Given the description of an element on the screen output the (x, y) to click on. 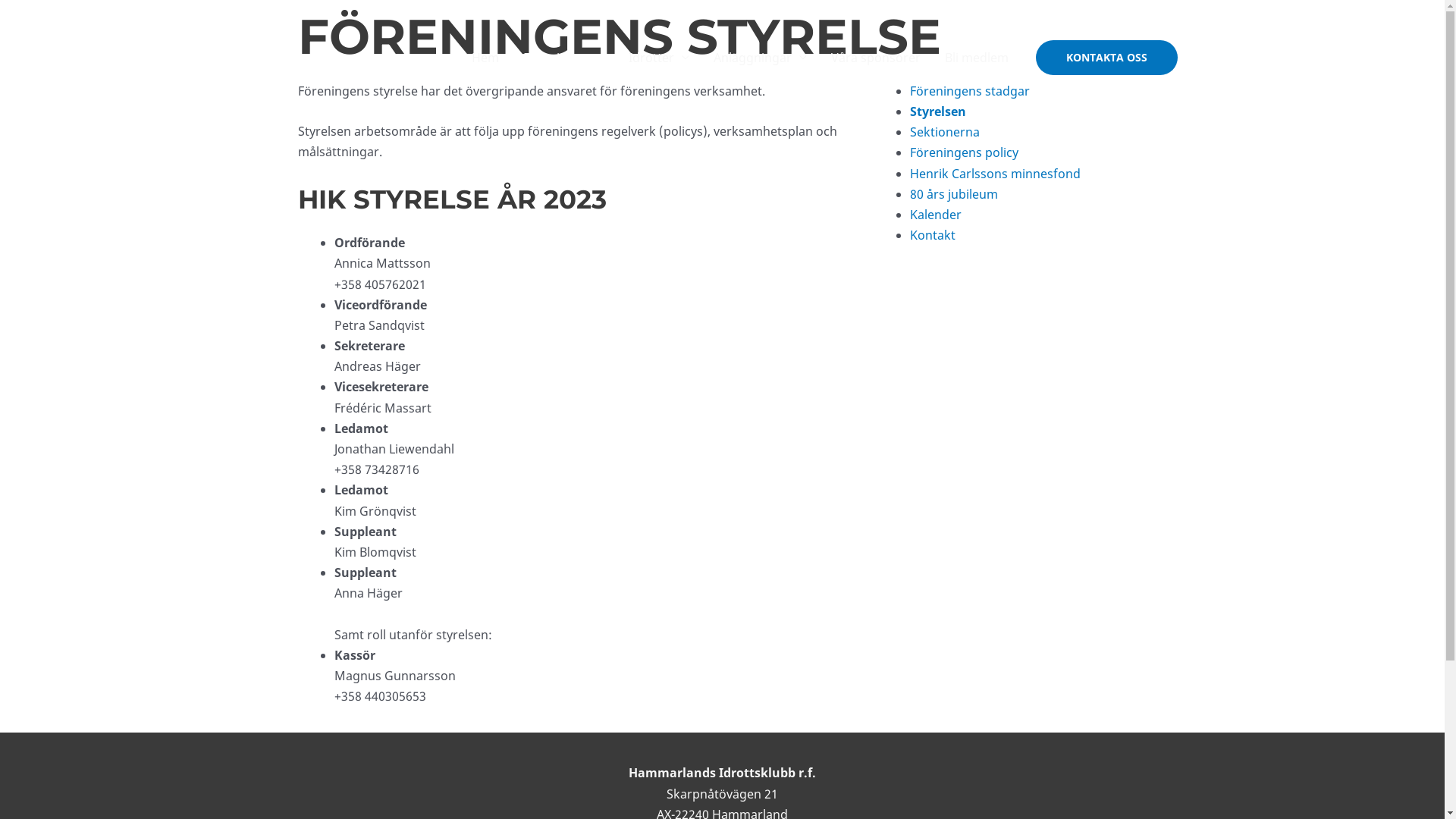
Idrotter Element type: text (657, 57)
Henrik Carlssons minnesfond Element type: text (995, 173)
Sektionerna Element type: text (944, 131)
Kalender Element type: text (935, 214)
Hem Element type: text (485, 57)
Styrelsen Element type: text (938, 111)
KONTAKTA OSS Element type: text (1106, 57)
Bli medlem Element type: text (976, 57)
Kontakt Element type: text (932, 234)
